Given the description of an element on the screen output the (x, y) to click on. 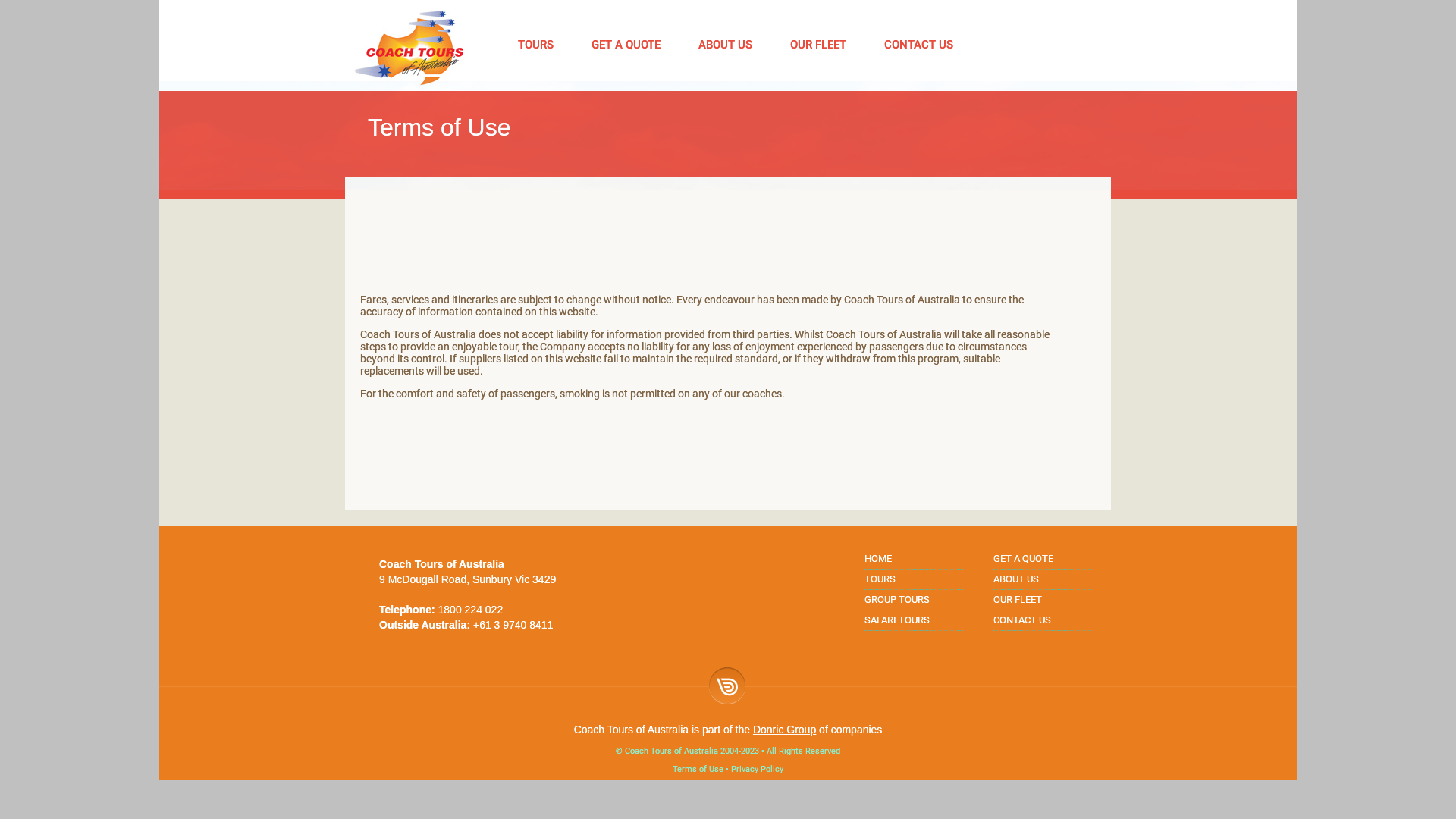
OUR FLEET Element type: text (813, 44)
SAFARI TOURS Element type: text (896, 619)
TOURS Element type: text (531, 44)
Terms of Use Element type: text (697, 769)
CONTACT US Element type: text (1022, 619)
GROUP TOURS Element type: text (896, 599)
Privacy Policy Element type: text (757, 769)
TOURS Element type: text (879, 578)
ABOUT US Element type: text (1015, 578)
ABOUT US Element type: text (721, 44)
GET A QUOTE Element type: text (1023, 558)
OUR FLEET Element type: text (1017, 599)
GET A QUOTE Element type: text (622, 44)
CONTACT US Element type: text (914, 44)
HOME Element type: text (877, 558)
